Given the description of an element on the screen output the (x, y) to click on. 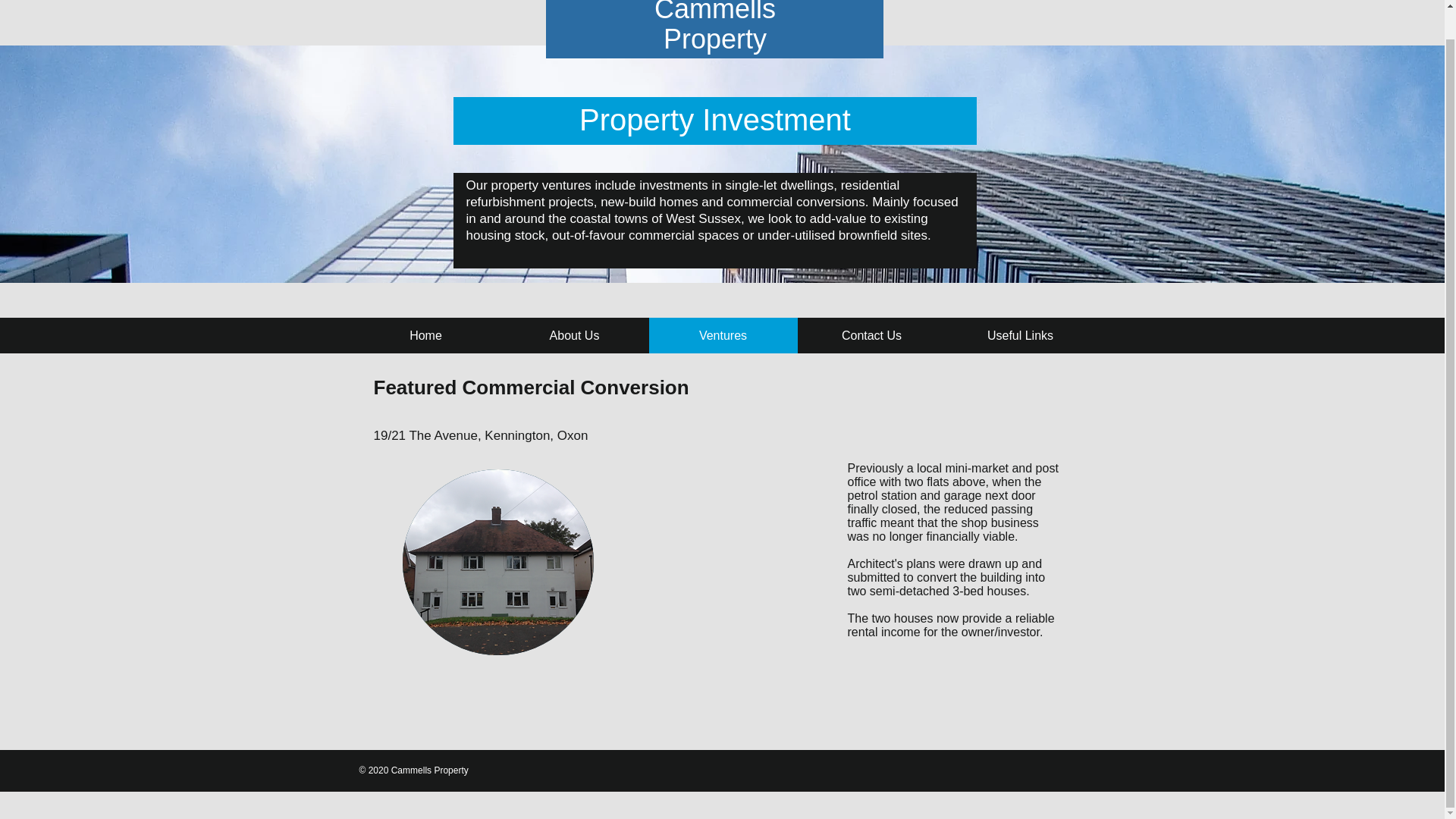
Useful Links (1020, 334)
Home (426, 334)
Ventures (723, 334)
About Us (574, 334)
Cammells (714, 12)
Contact Us (871, 334)
